Given the description of an element on the screen output the (x, y) to click on. 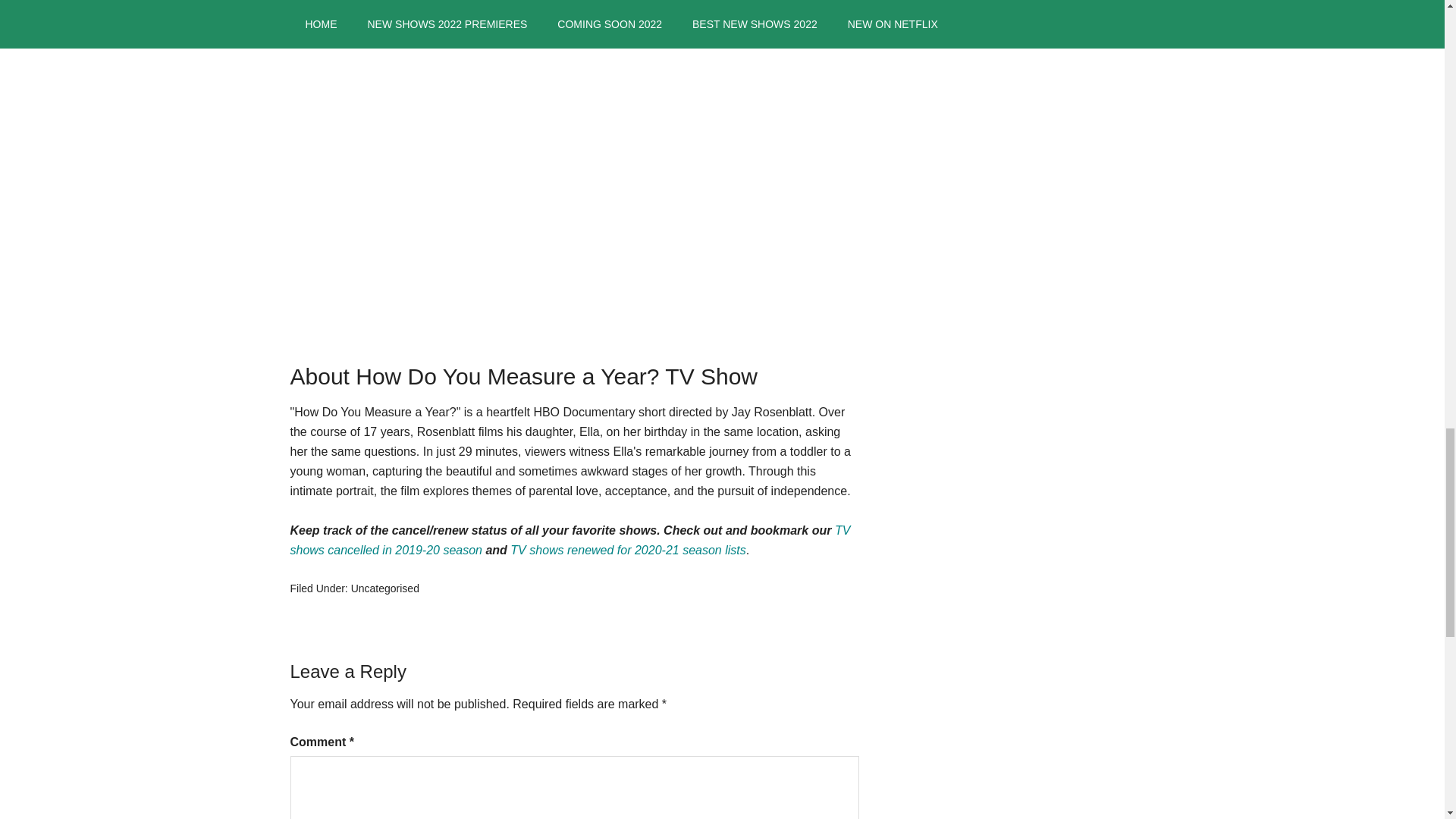
TV shows renewed for 2020-21 season lists (628, 549)
TV shows cancelled in 2019-20 season (569, 540)
Uncategorised (384, 588)
